Given the description of an element on the screen output the (x, y) to click on. 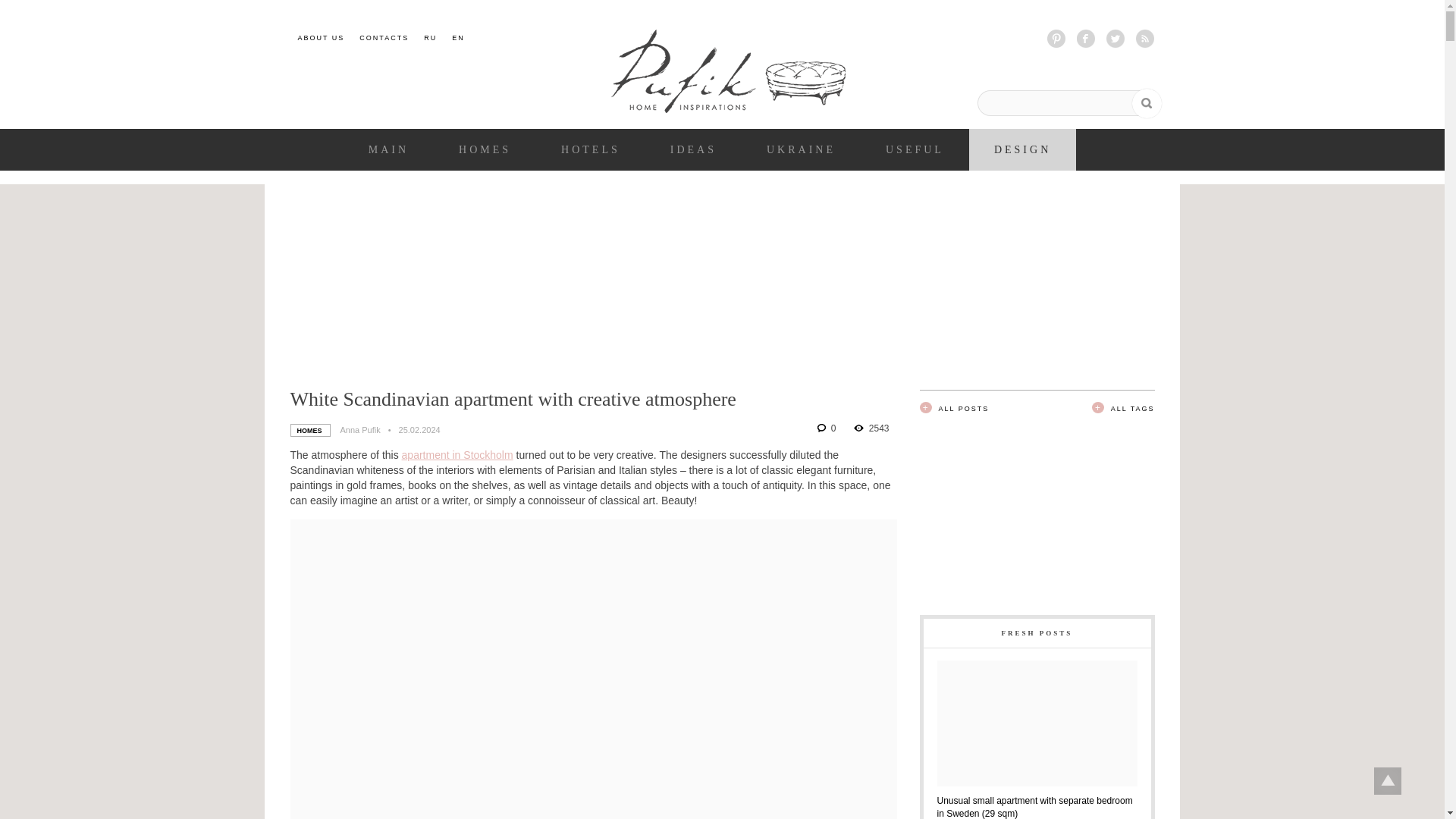
RU (429, 37)
USEFUL (914, 149)
DESIGN (1022, 149)
Views (871, 428)
CONTACTS (384, 37)
UKRAINE (801, 149)
Comments (825, 428)
MAIN (388, 149)
Advertisement (1036, 520)
